Given the description of an element on the screen output the (x, y) to click on. 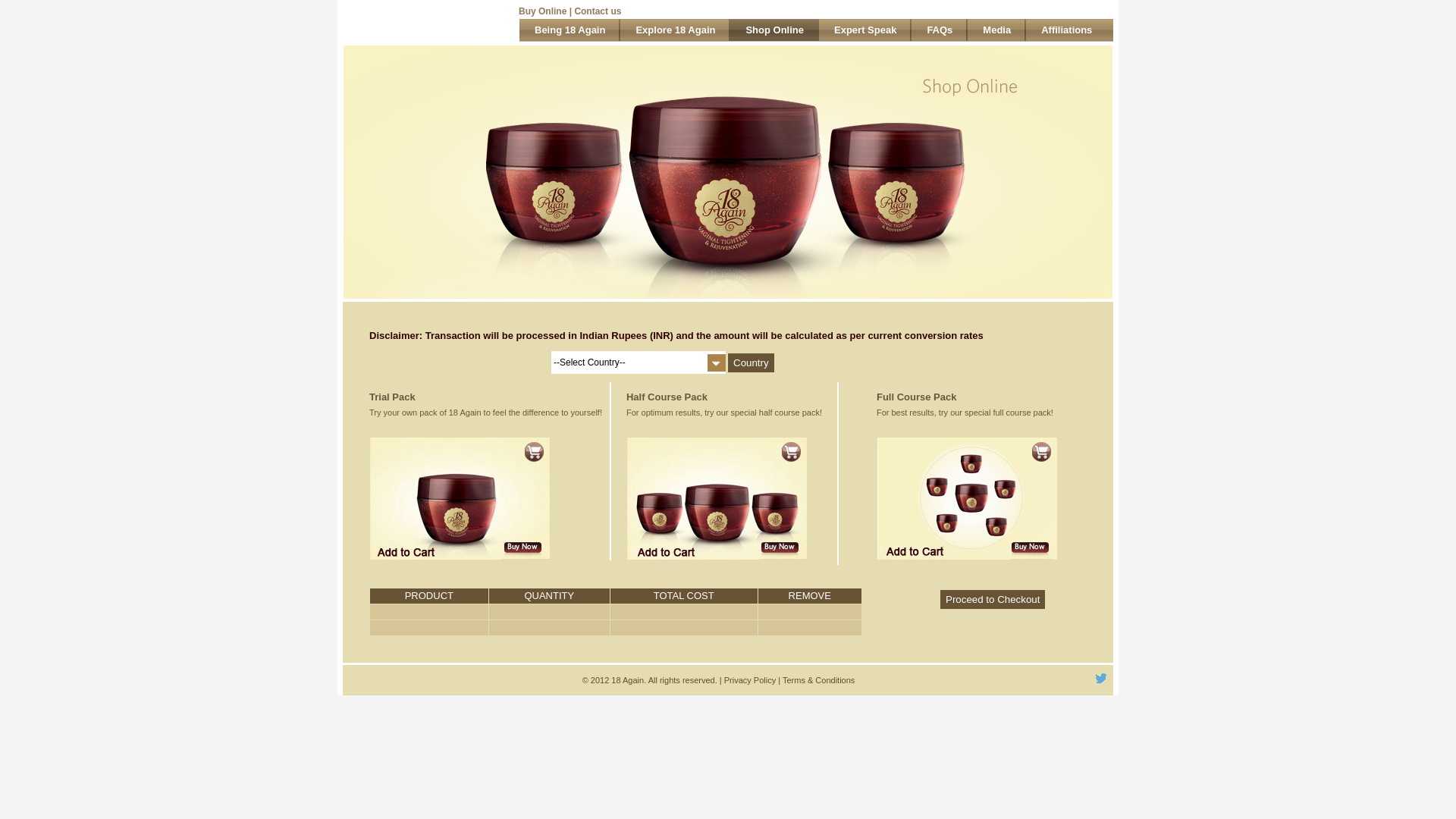
Country Element type: text (751, 362)
Shop Online Element type: text (774, 29)
Privacy Policy Element type: text (749, 679)
Proceed to Checkout Element type: text (992, 598)
Being 18 Again Element type: text (569, 29)
Media Element type: text (996, 29)
Buy Online Element type: text (542, 11)
Terms & Conditions Element type: text (818, 679)
FAQs Element type: text (939, 29)
Contact us Element type: text (597, 11)
Explore 18 Again Element type: text (675, 29)
Expert Speak Element type: text (865, 29)
Affiliations Element type: text (1066, 29)
